Given the description of an element on the screen output the (x, y) to click on. 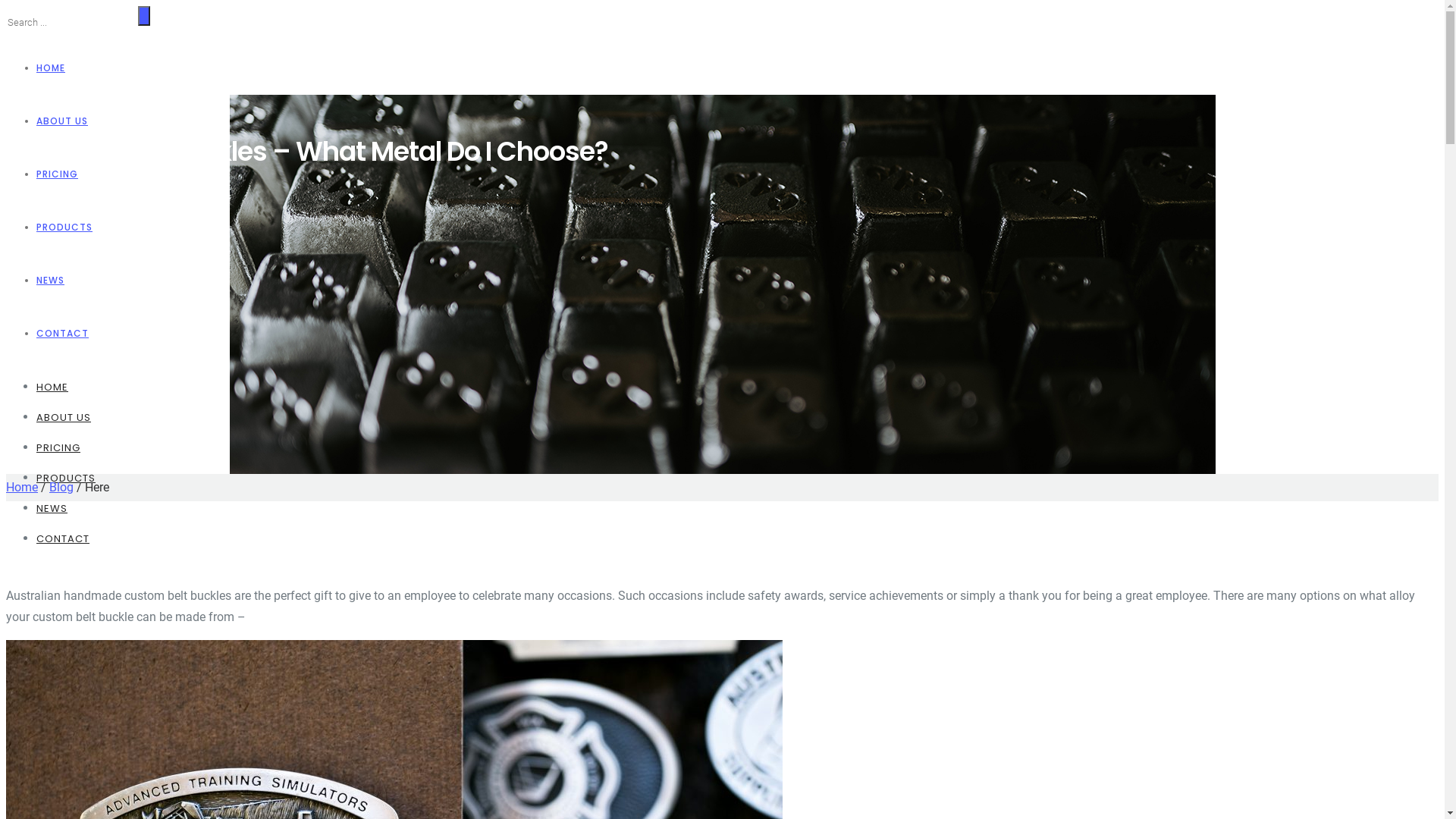
PRICING Element type: text (58, 447)
PRICING Element type: text (57, 173)
Blog Element type: text (61, 487)
Home Element type: text (21, 487)
NEWS Element type: text (50, 279)
PRODUCTS Element type: text (65, 477)
BELT BUCKLES Element type: text (39, 106)
PRODUCTS Element type: text (64, 226)
HOME Element type: text (52, 386)
NEWS Element type: text (51, 508)
CONTACT Element type: text (62, 332)
CONTACT Element type: text (62, 538)
ABOUT US Element type: text (61, 120)
ABOUT US Element type: text (63, 417)
HOME Element type: text (50, 67)
